Given the description of an element on the screen output the (x, y) to click on. 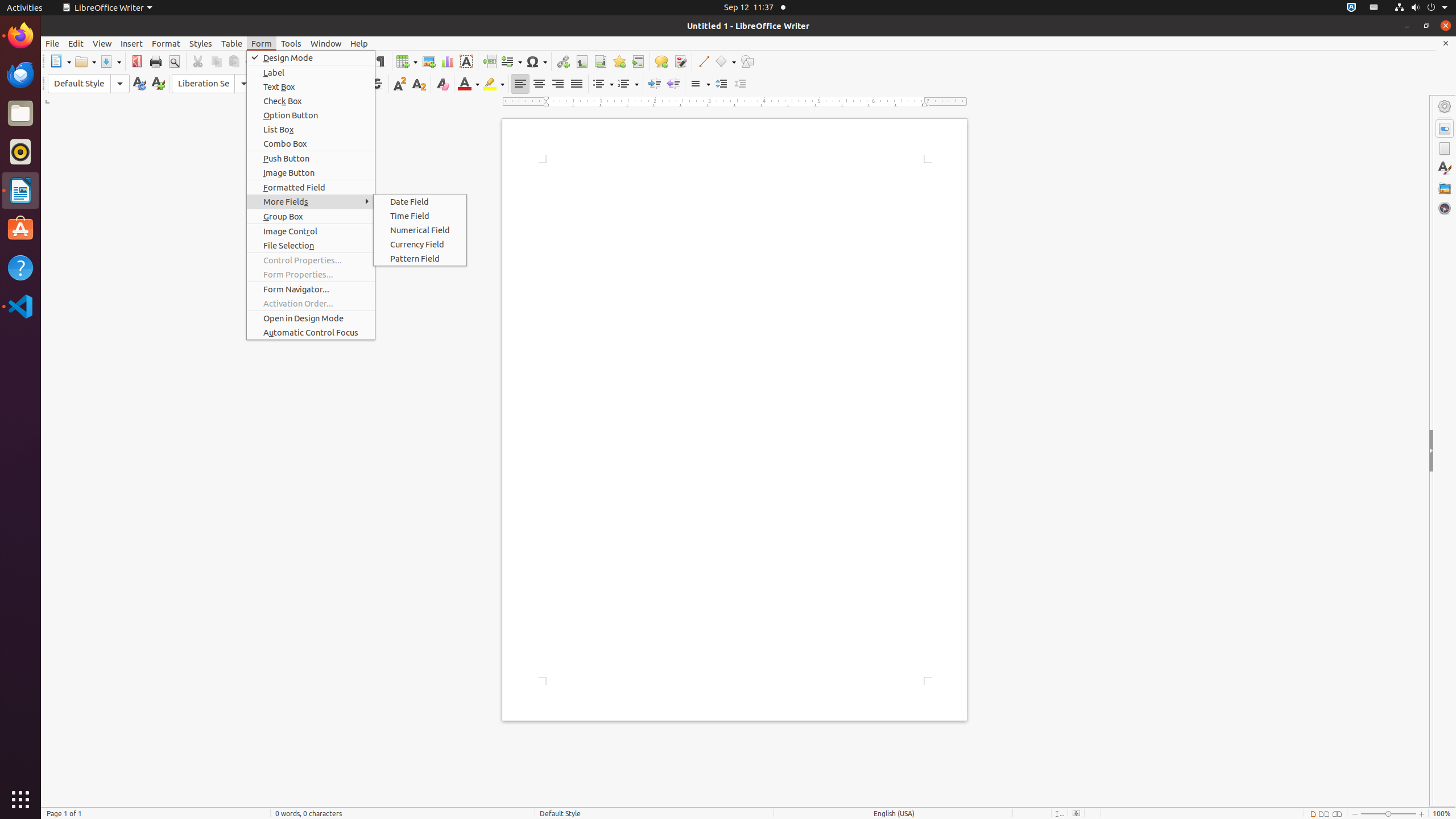
Font Color Element type: push-button (468, 83)
Open Element type: push-button (84, 61)
Rhythmbox Element type: push-button (20, 151)
LibreOffice Writer Element type: push-button (20, 190)
Font Name Element type: combo-box (212, 83)
